Given the description of an element on the screen output the (x, y) to click on. 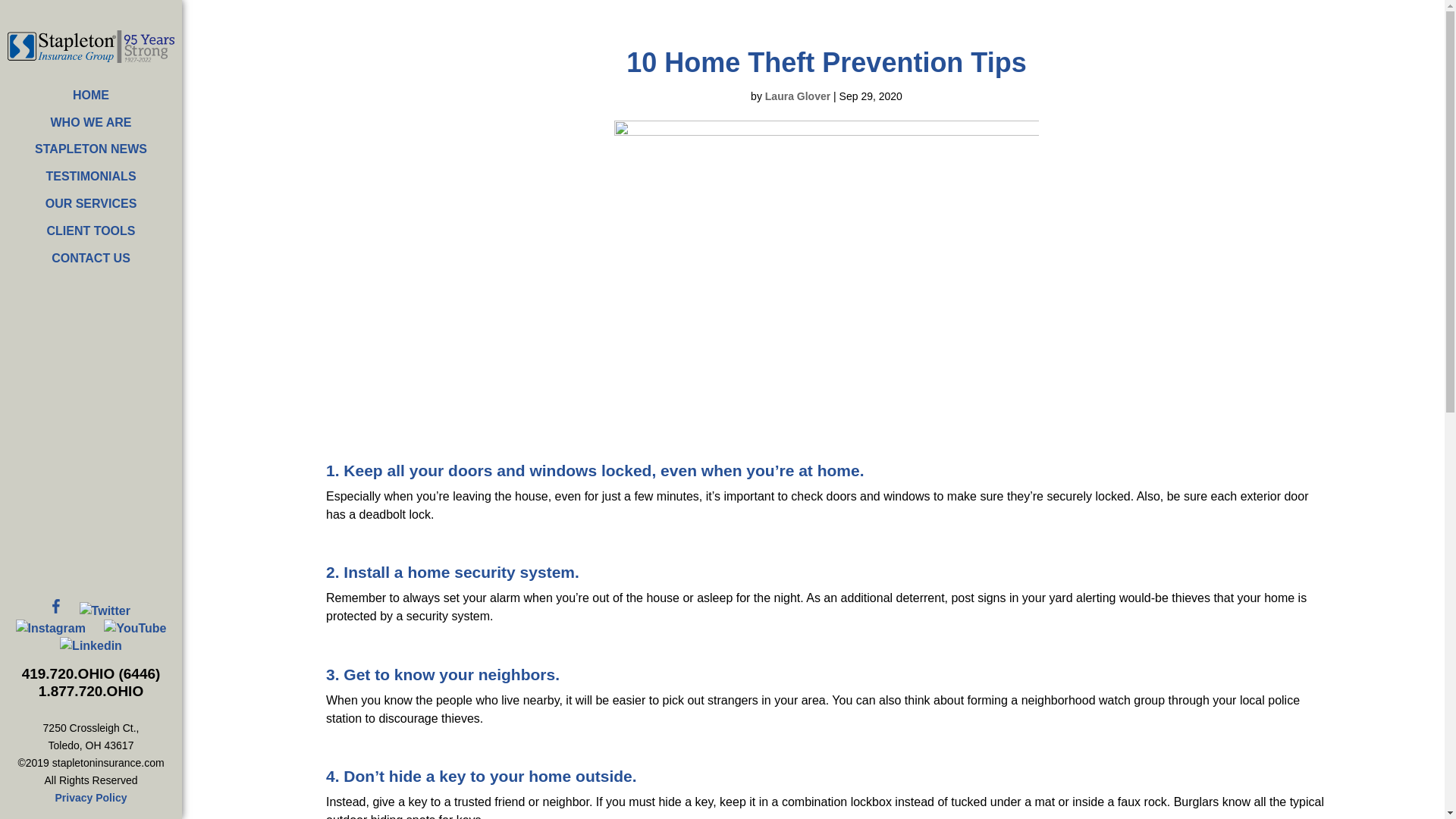
Laura Glover (797, 96)
WHO WE ARE (90, 123)
OUR SERVICES (90, 204)
Linkedin (90, 645)
TESTIMONIALS (90, 177)
HOME (90, 95)
Privacy Policy (91, 797)
CLIENT TOOLS (90, 231)
Twitter (105, 610)
CONTACT US (90, 259)
